Given the description of an element on the screen output the (x, y) to click on. 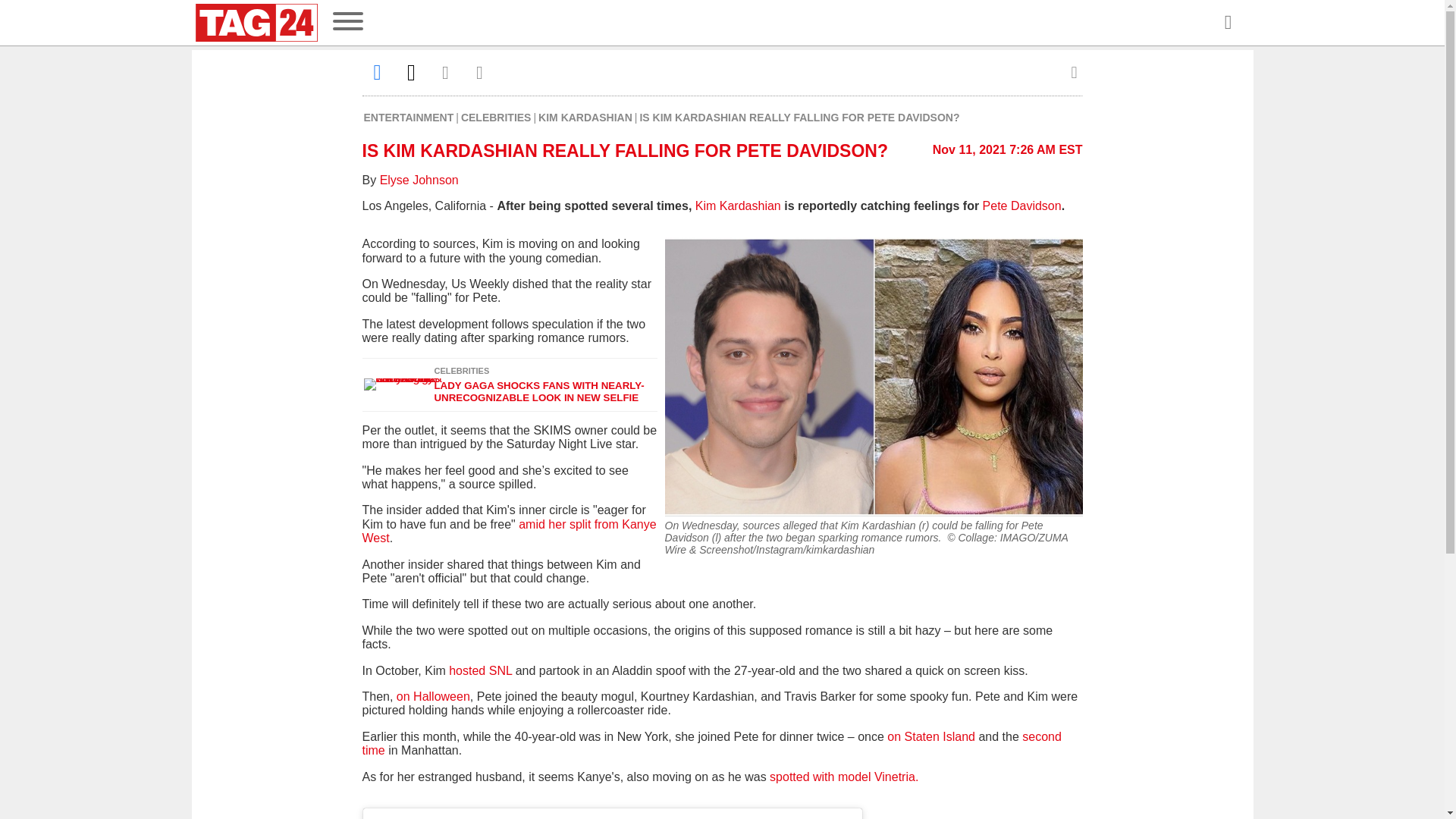
ENTERTAINMENT (409, 117)
on Staten Island (930, 736)
menu (347, 22)
Copy link (479, 72)
second time (711, 743)
CELEBRITIES (496, 117)
spotted with model Vinetria. (844, 776)
amid her split from Kanye West (509, 530)
KIM KARDASHIAN (584, 117)
Share on Facebook (377, 72)
